Given the description of an element on the screen output the (x, y) to click on. 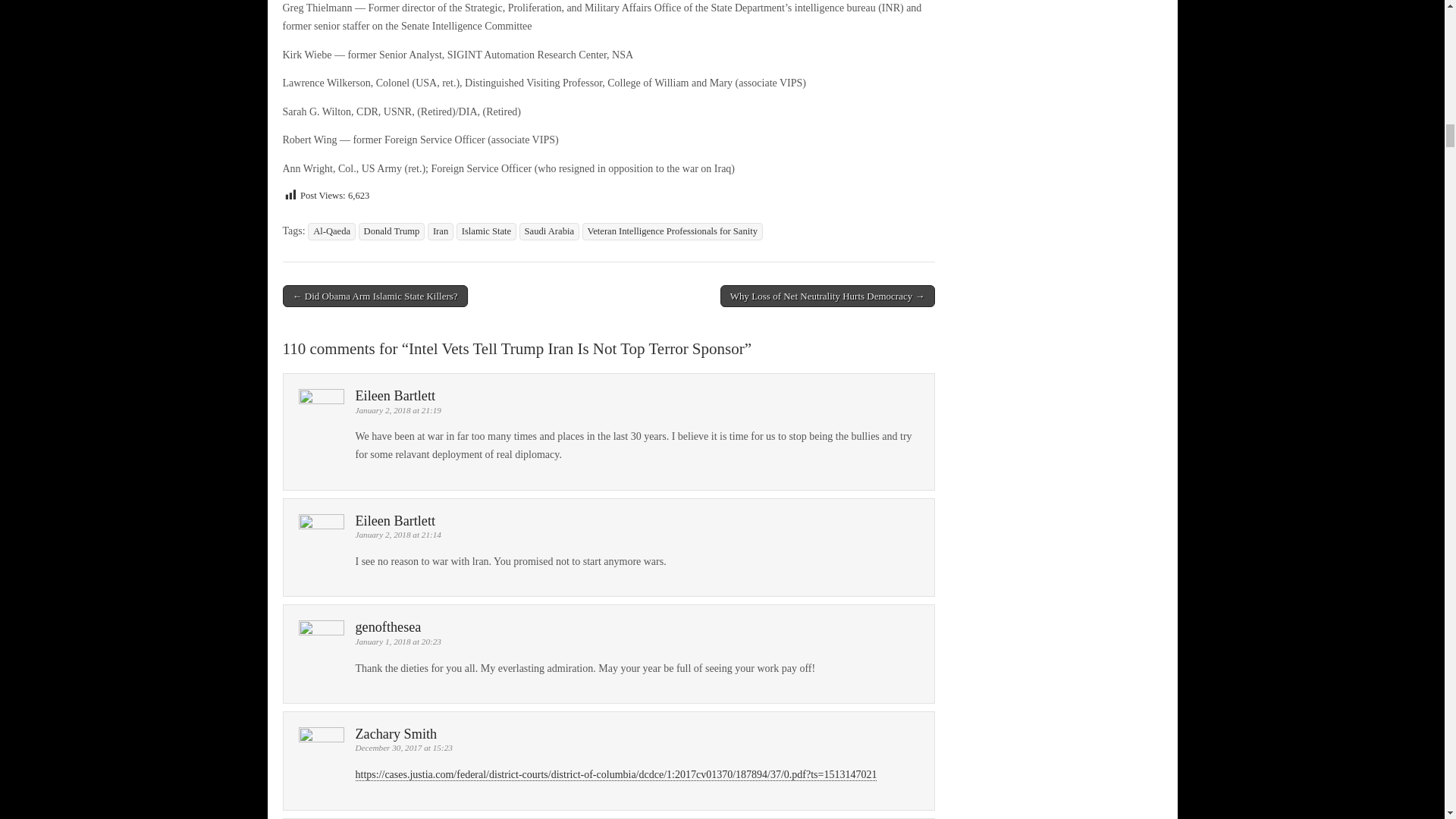
Donald Trump (391, 231)
Al-Qaeda (331, 231)
